Given the description of an element on the screen output the (x, y) to click on. 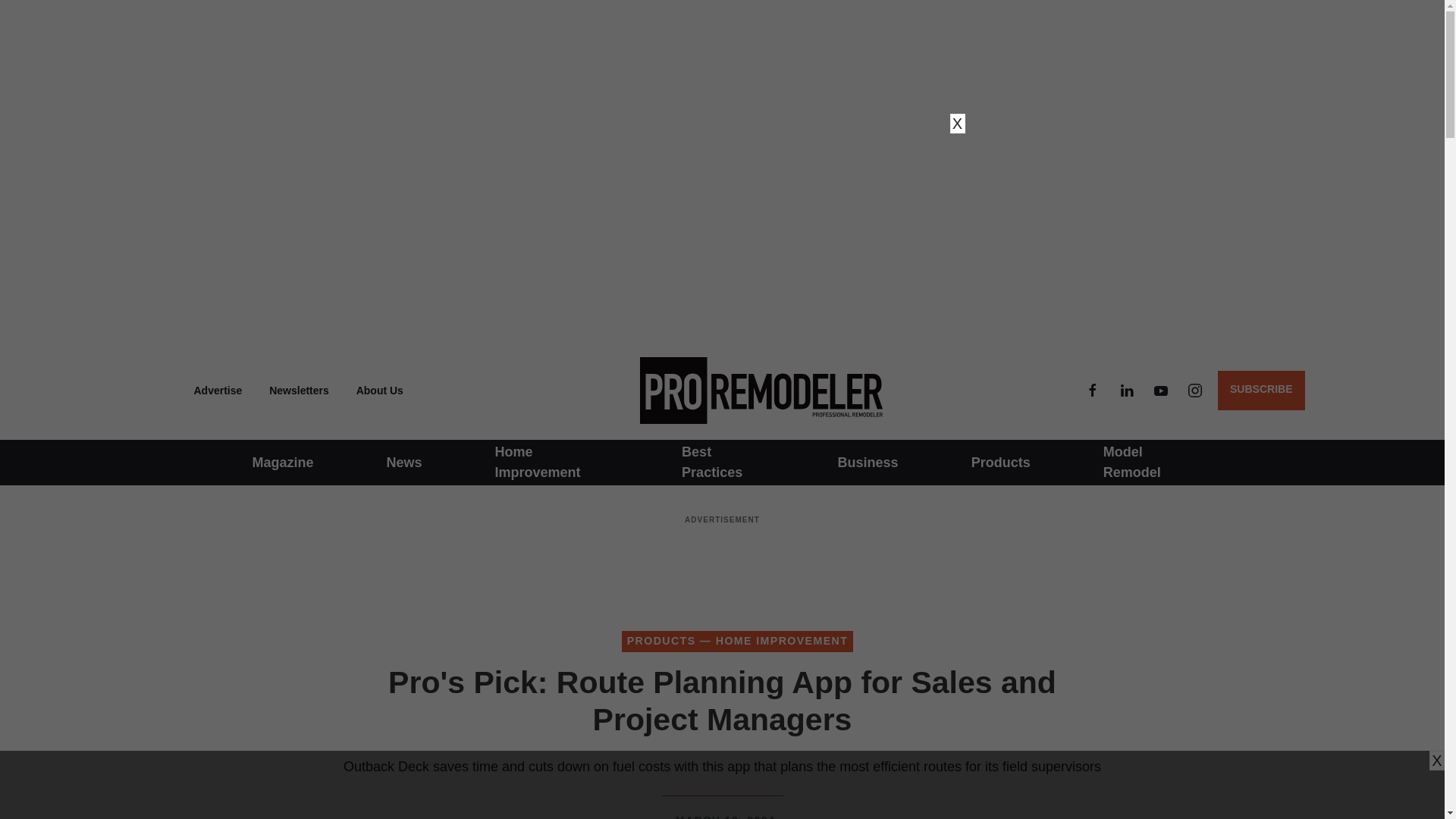
Newsletters (298, 389)
Home (756, 390)
3rd party ad content (721, 785)
Advertise (218, 389)
3rd party ad content (721, 566)
About Us (378, 389)
